Given the description of an element on the screen output the (x, y) to click on. 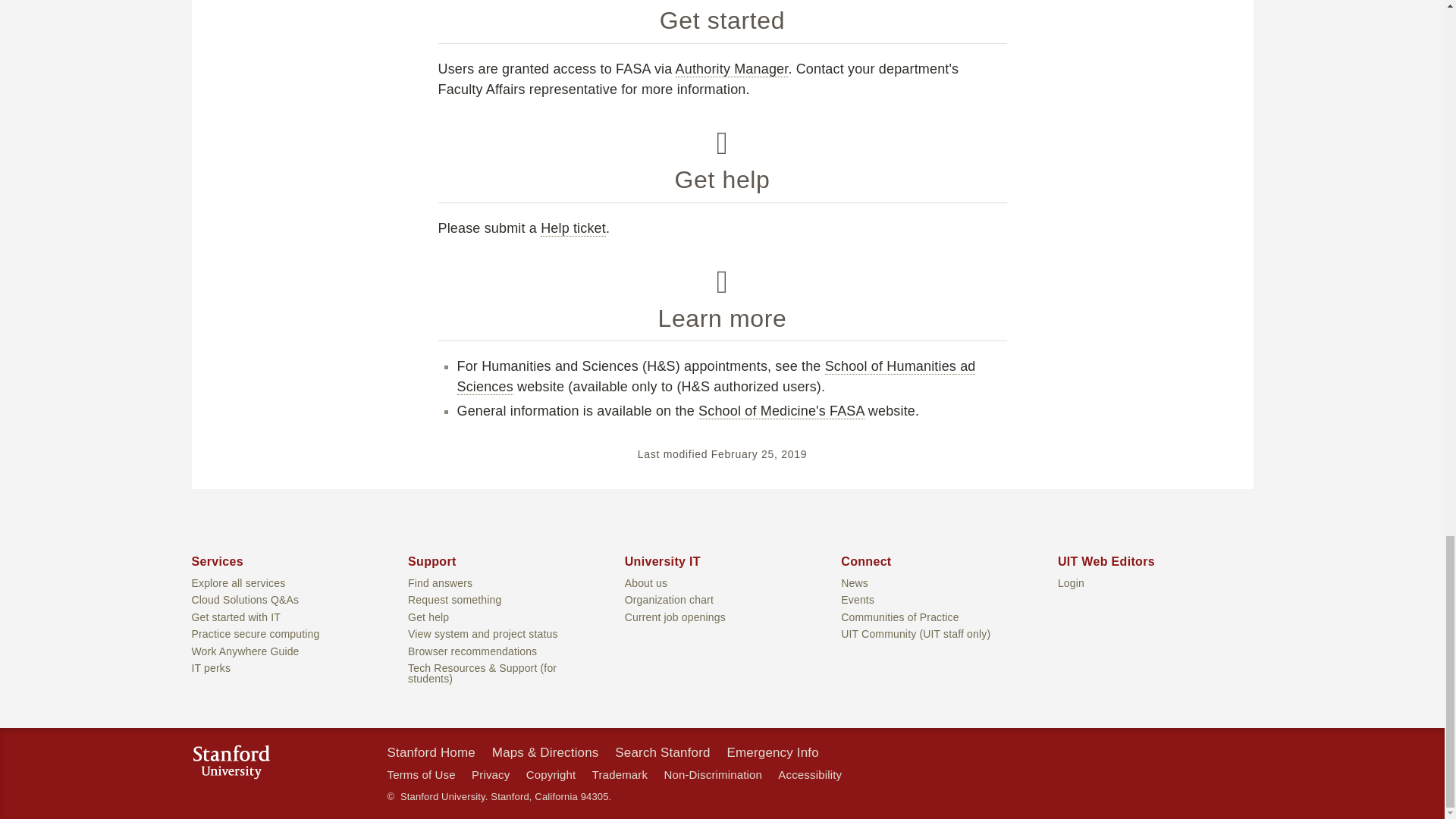
Ownership and use of Stanford trademarks and images (619, 774)
Report web accessibility issues (809, 774)
Report alleged copyright infringement (550, 774)
Terms of use for sites (420, 774)
Privacy and cookie policy (490, 774)
Non-discrimination policy (712, 774)
